Given the description of an element on the screen output the (x, y) to click on. 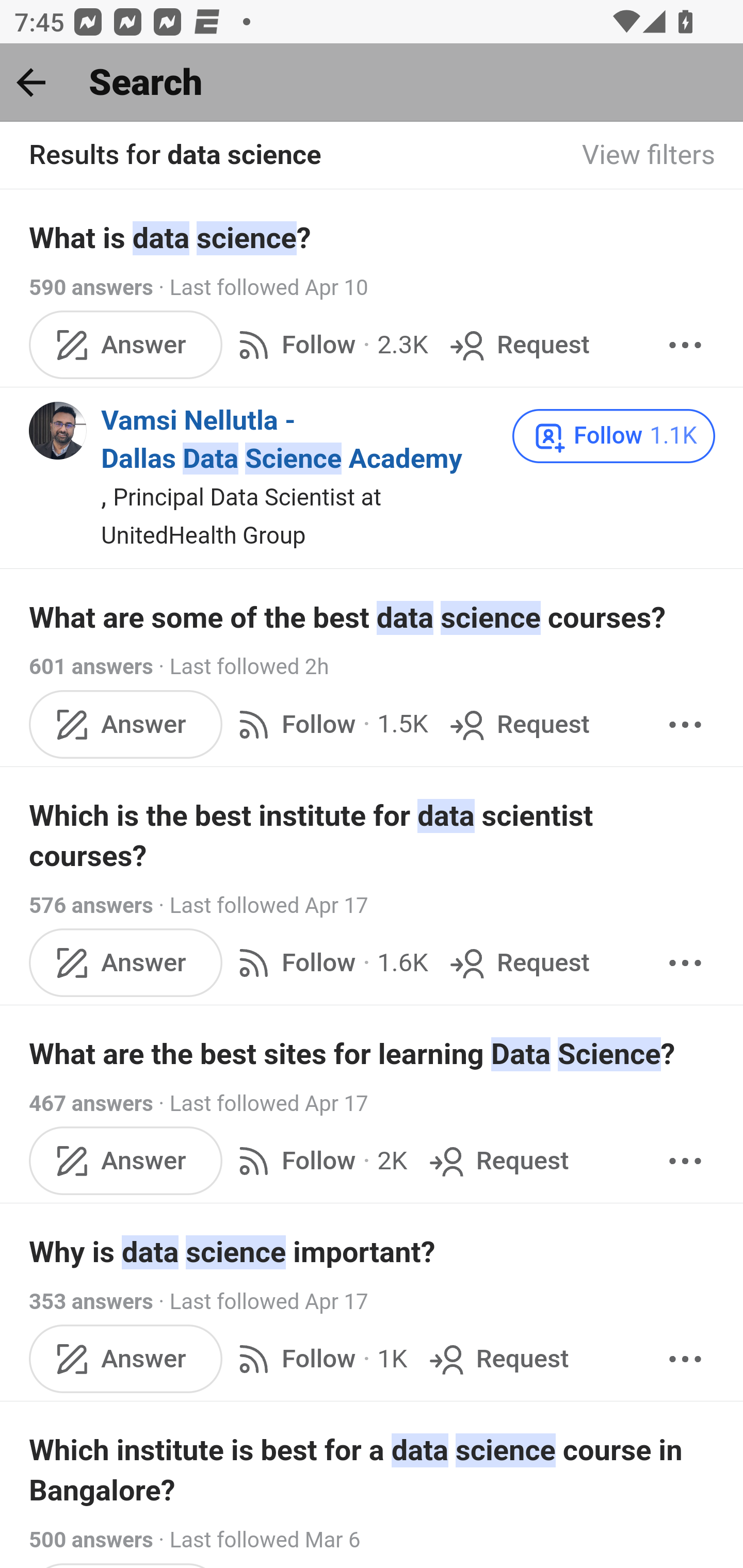
Back Search (371, 82)
Back (30, 82)
View filters (648, 155)
What is data science? (372, 237)
590 answers 590  answers (90, 287)
Answer (125, 343)
Follow · 2.3K (329, 343)
Request (517, 343)
More (684, 343)
What are some of the best data science courses? (372, 617)
601 answers 601  answers (90, 667)
Answer (125, 724)
Follow · 1.5K (329, 724)
Request (517, 724)
More (684, 724)
576 answers 576  answers (90, 906)
Answer (125, 962)
Follow · 1.6K (329, 962)
Request (517, 962)
More (684, 962)
What are the best sites for learning Data Science? (372, 1054)
467 answers 467  answers (90, 1103)
Answer (125, 1159)
Follow · 2K (318, 1159)
Request (496, 1159)
More (684, 1159)
Why is data science important? (372, 1252)
353 answers 353  answers (90, 1300)
Answer (125, 1358)
Follow · 1K (318, 1358)
Request (496, 1358)
More (684, 1358)
500 answers 500  answers (90, 1538)
